Given the description of an element on the screen output the (x, y) to click on. 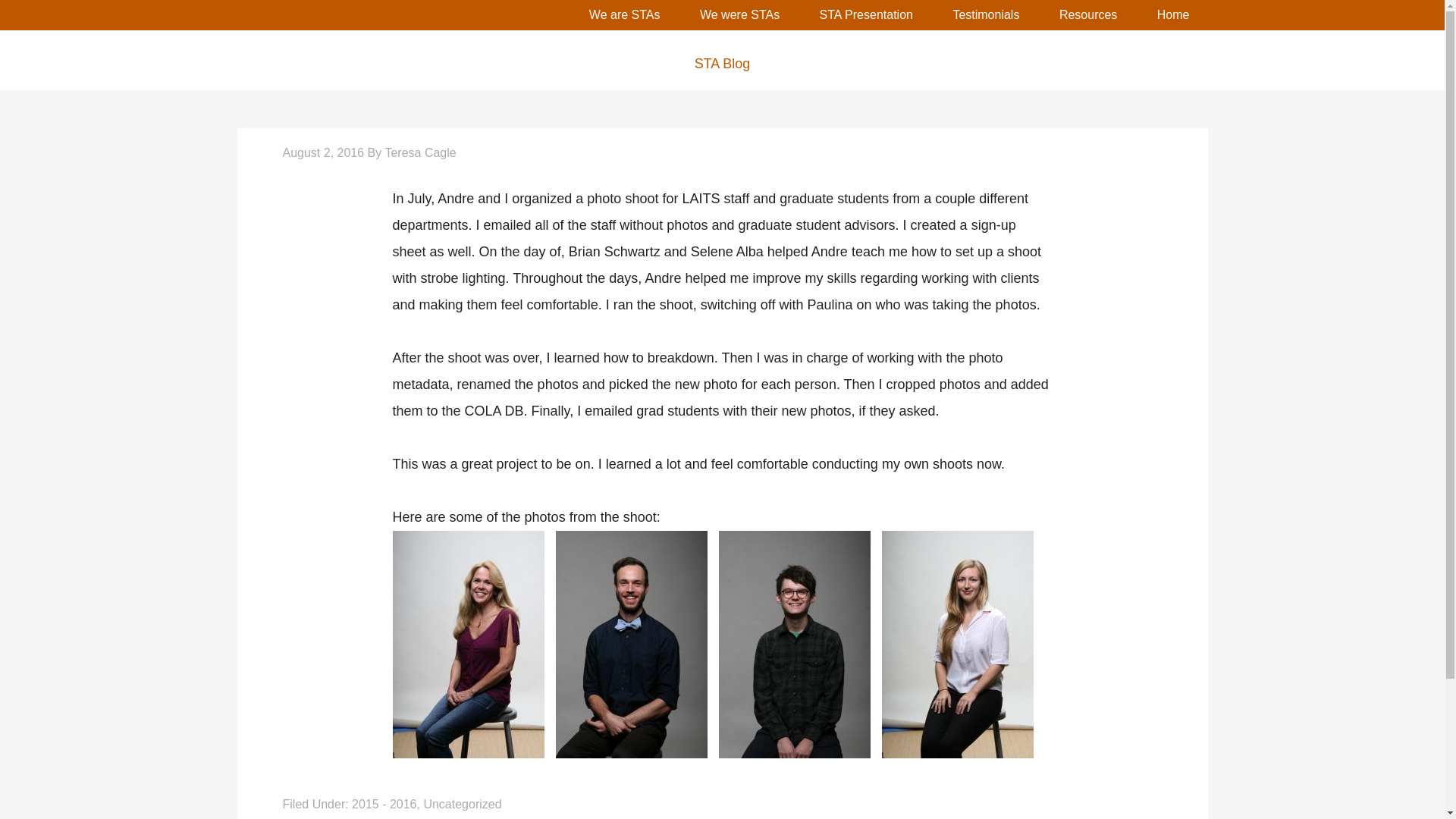
Teresa Cagle (419, 152)
We were STAs (739, 15)
STA Blog (721, 64)
Resources (1088, 15)
Testimonials (985, 15)
Uncategorized (461, 803)
We are STAs (624, 15)
Home (1173, 15)
STA Presentation (866, 15)
2015 - 2016 (384, 803)
